Given the description of an element on the screen output the (x, y) to click on. 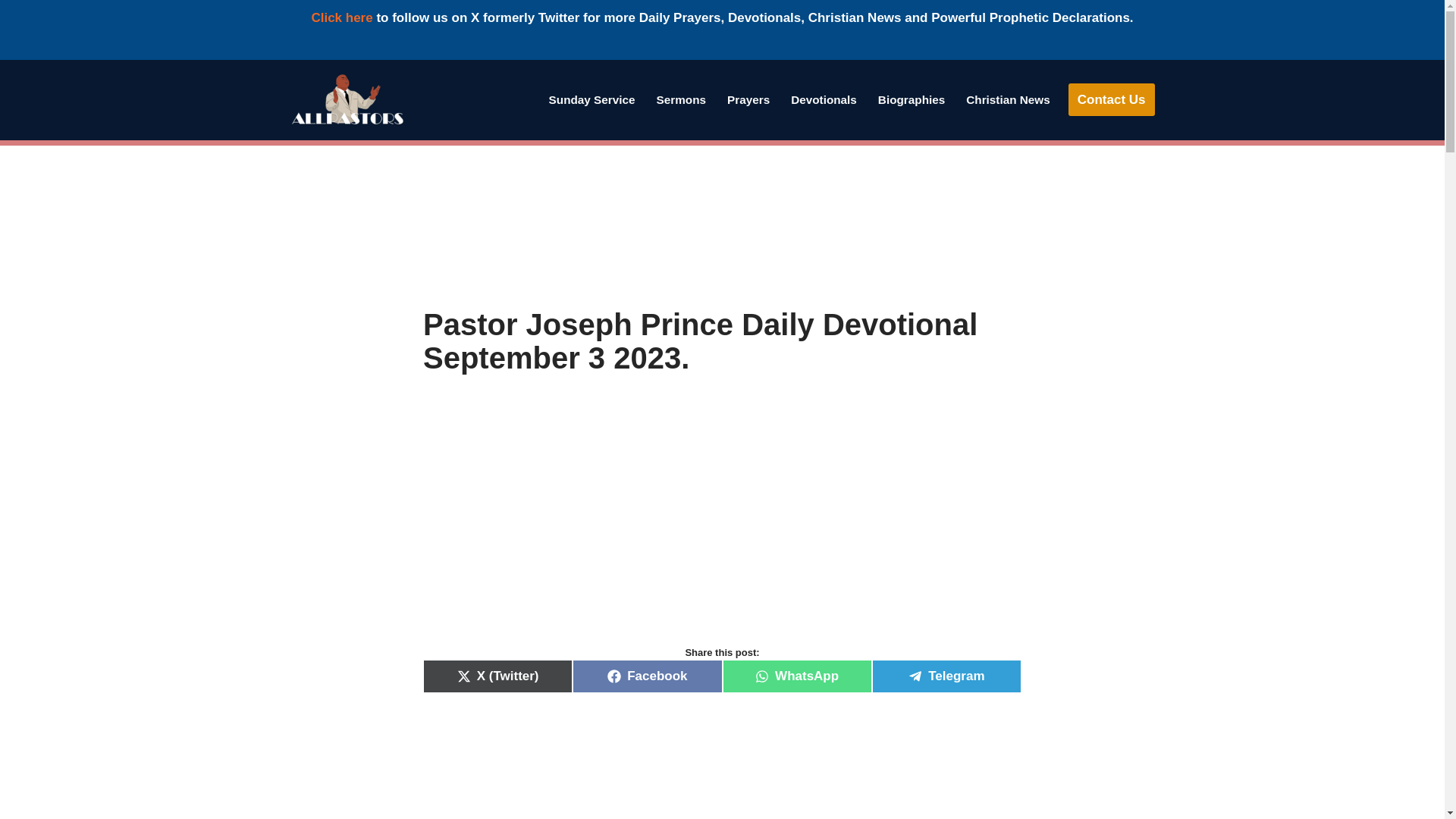
Christian News (1007, 99)
Prayers (748, 99)
Click here (341, 17)
Sunday Service (591, 99)
Sermons (681, 99)
WhatsApp (796, 676)
Biographies (910, 99)
Contact Us (1111, 99)
Telegram (947, 676)
Facebook (647, 676)
SERMONS ONLINE (681, 99)
Devotionals (823, 99)
Skip to content (11, 91)
